Given the description of an element on the screen output the (x, y) to click on. 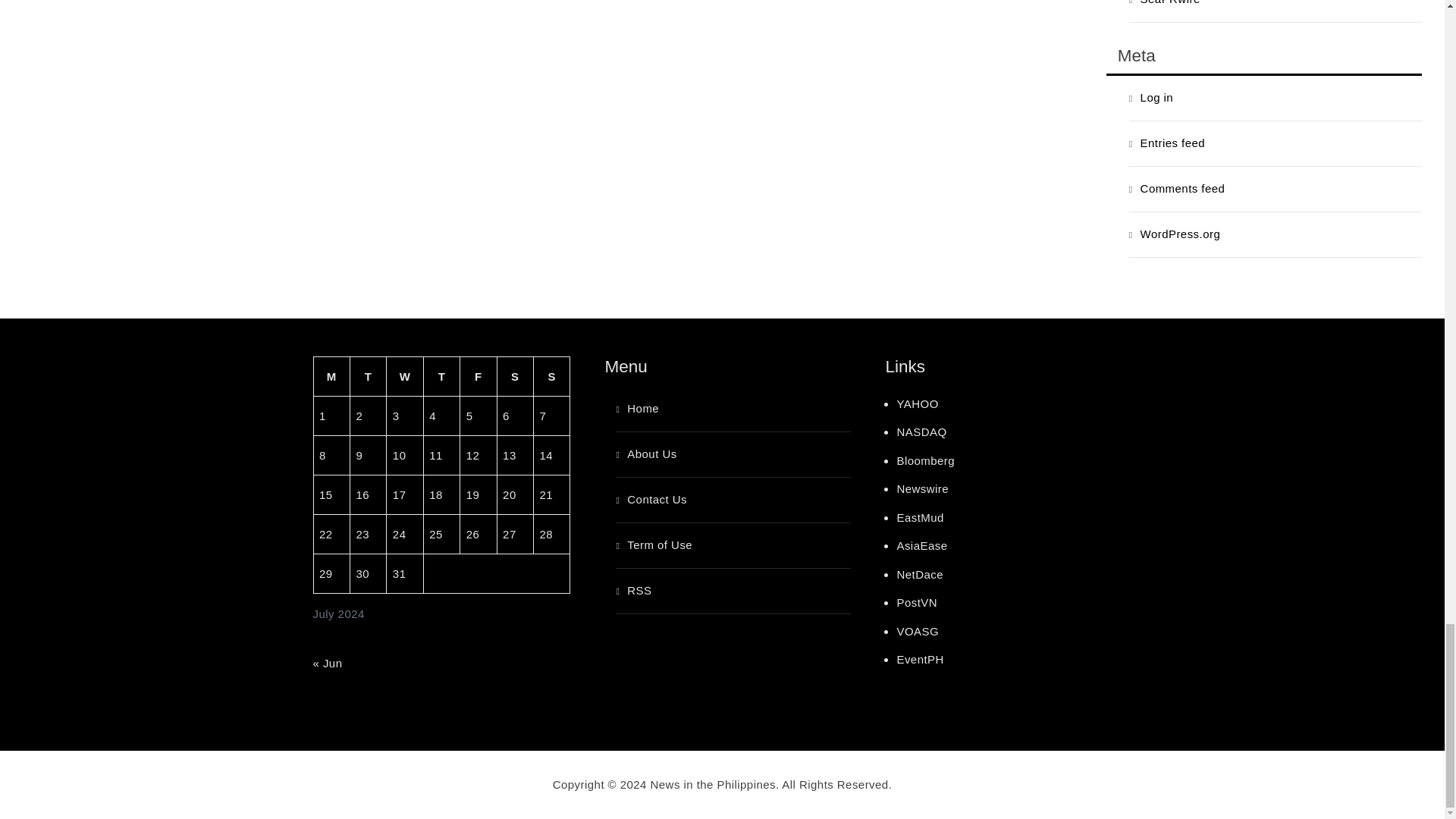
Sunday (552, 376)
Saturday (514, 376)
Monday (331, 376)
Tuesday (367, 376)
Wednesday (405, 376)
Friday (478, 376)
Thursday (441, 376)
